Given the description of an element on the screen output the (x, y) to click on. 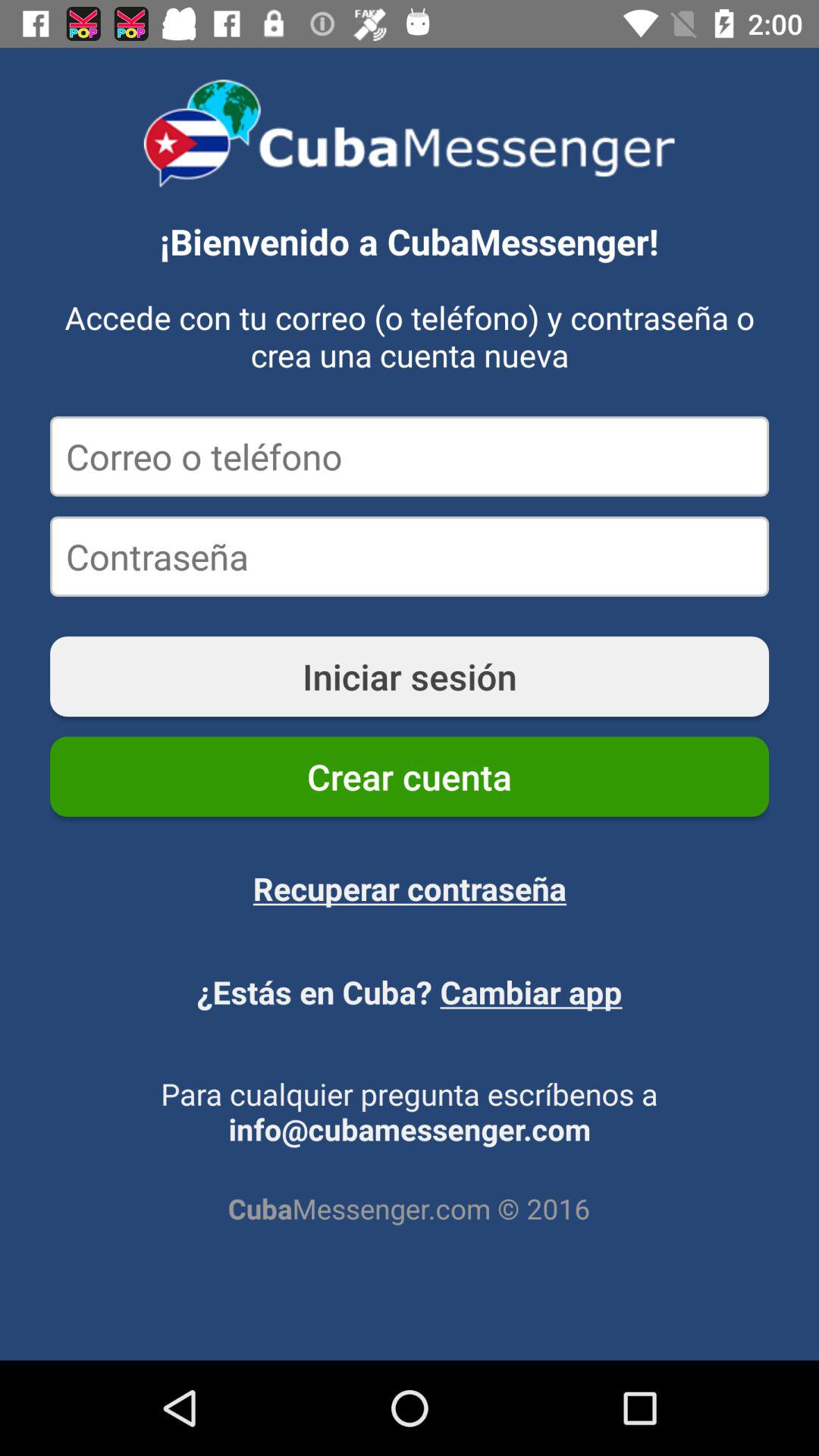
scroll until crear cuenta button (409, 776)
